Given the description of an element on the screen output the (x, y) to click on. 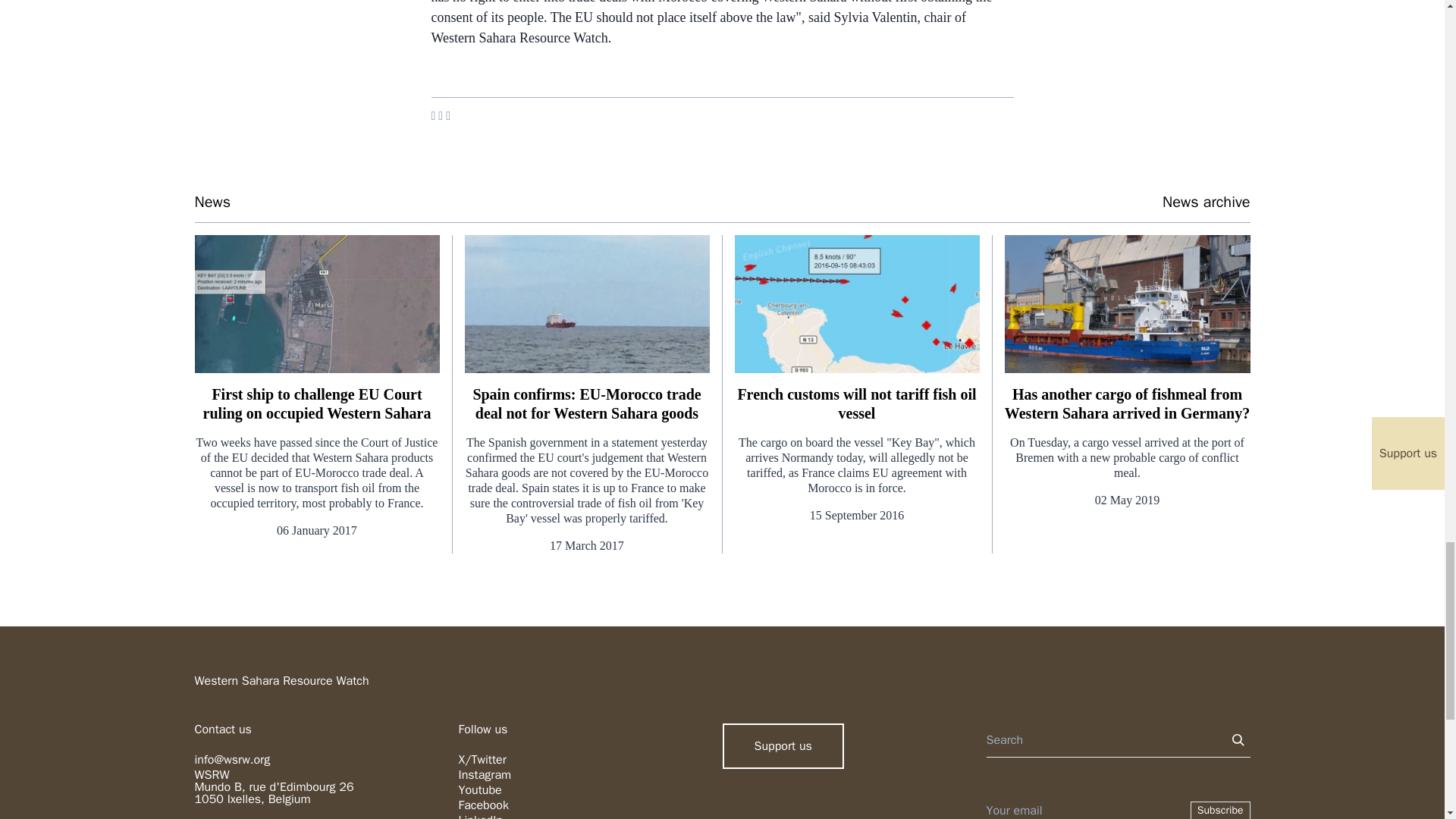
Subscribe (1220, 810)
Instagram (484, 774)
News archive (1205, 201)
Facebook (483, 805)
LinkedIn (480, 816)
Support us (782, 746)
French customs will not tariff fish oil vessel (855, 403)
Share on Facebook (432, 115)
Youtube (479, 789)
